Given the description of an element on the screen output the (x, y) to click on. 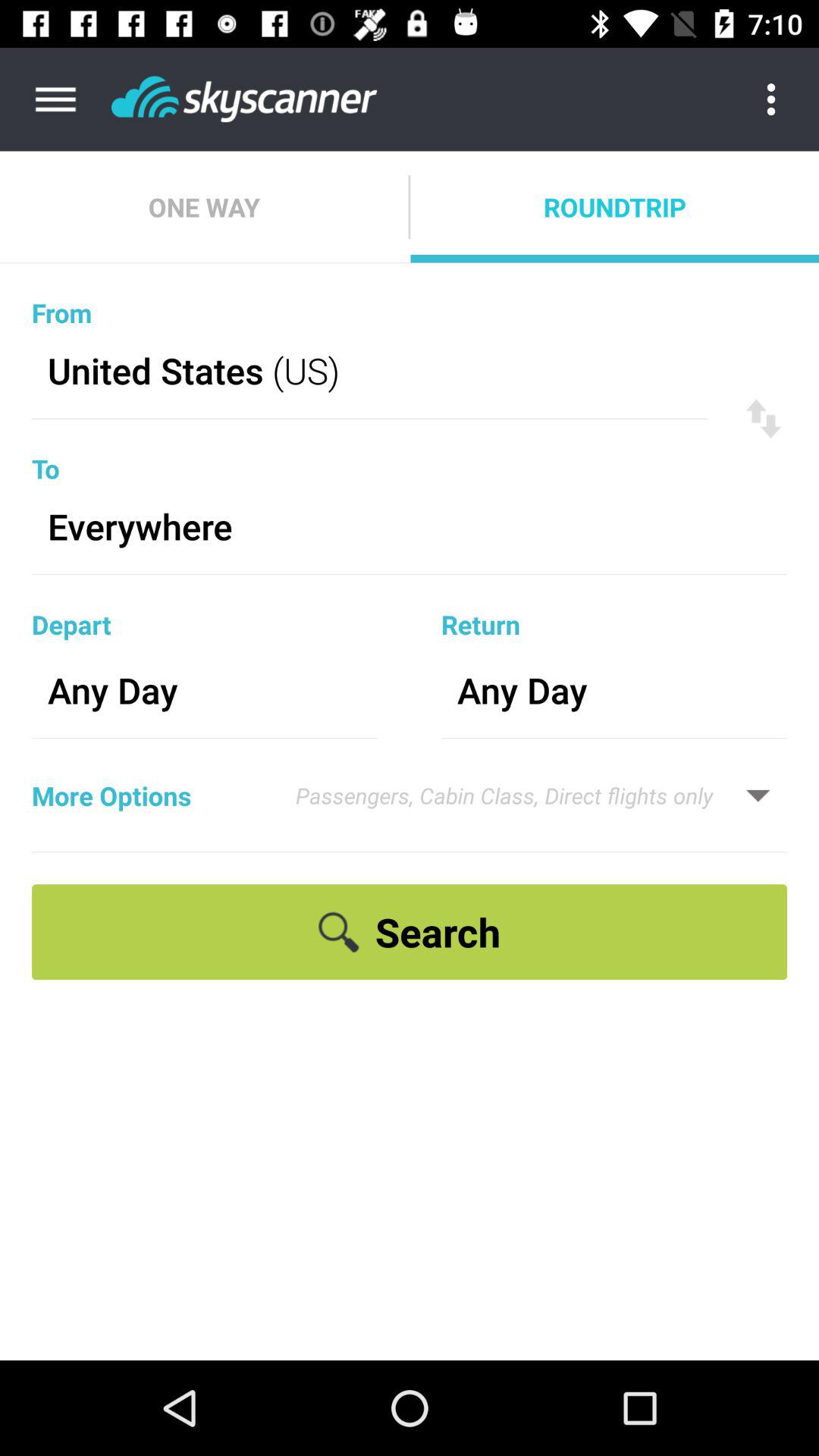
tap one way app (204, 206)
